Given the description of an element on the screen output the (x, y) to click on. 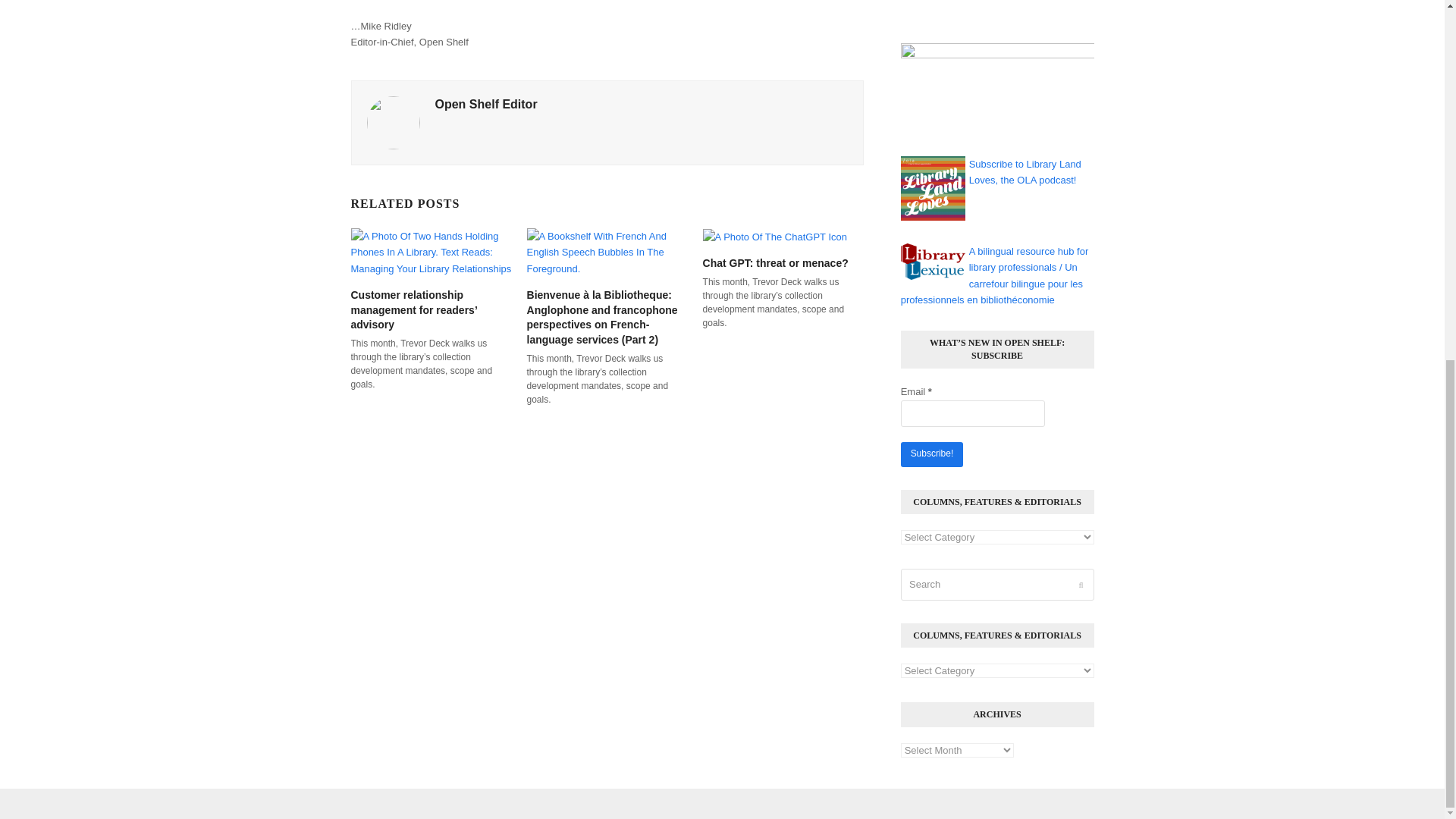
Email (973, 412)
Open Shelf Editor (486, 103)
Subscribe! (931, 454)
Visit Author Page (486, 103)
Chat GPT: threat or menace? (775, 235)
Visit Author Page (393, 122)
